Given the description of an element on the screen output the (x, y) to click on. 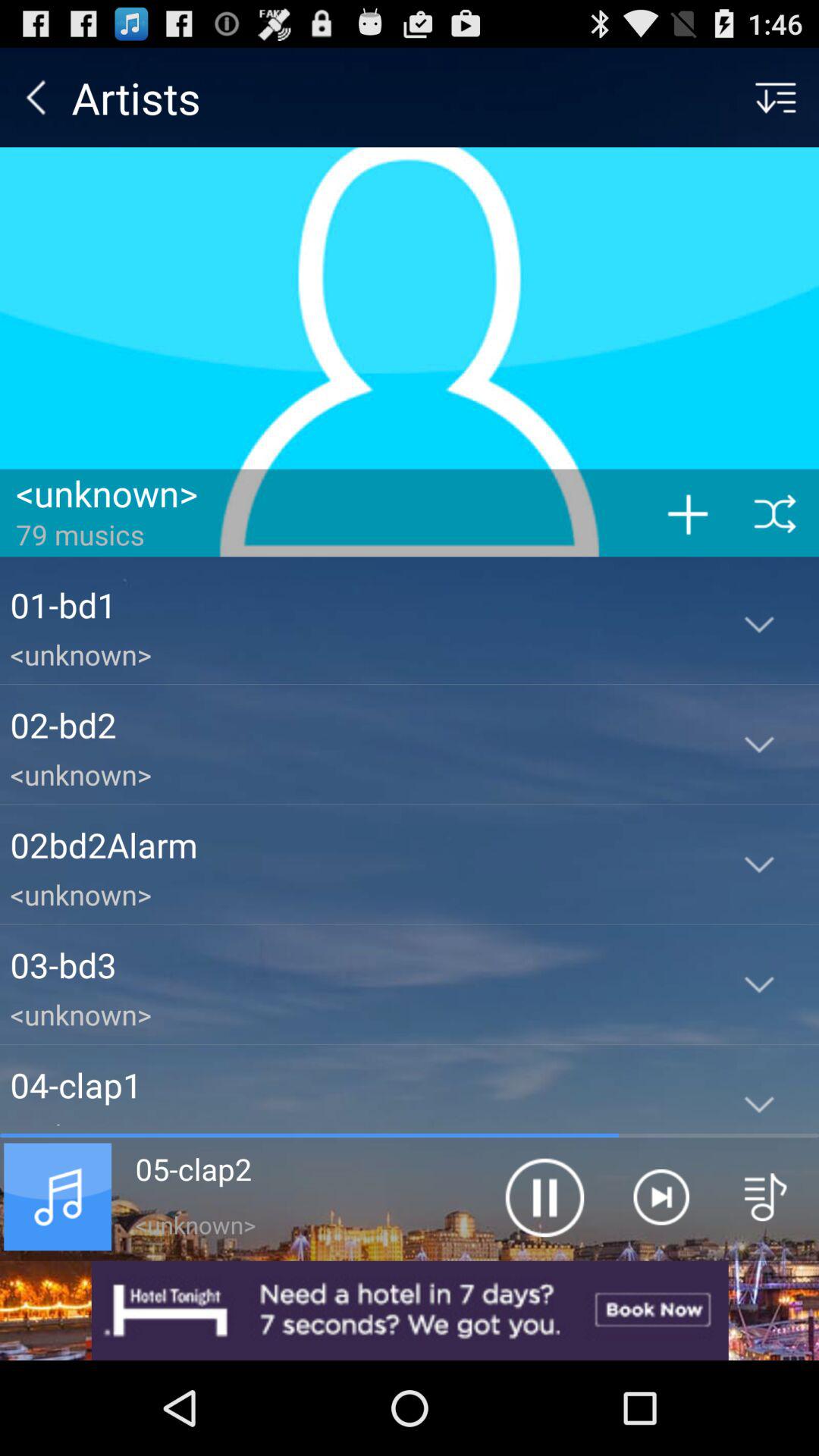
press the item above <unknown> icon (354, 964)
